Given the description of an element on the screen output the (x, y) to click on. 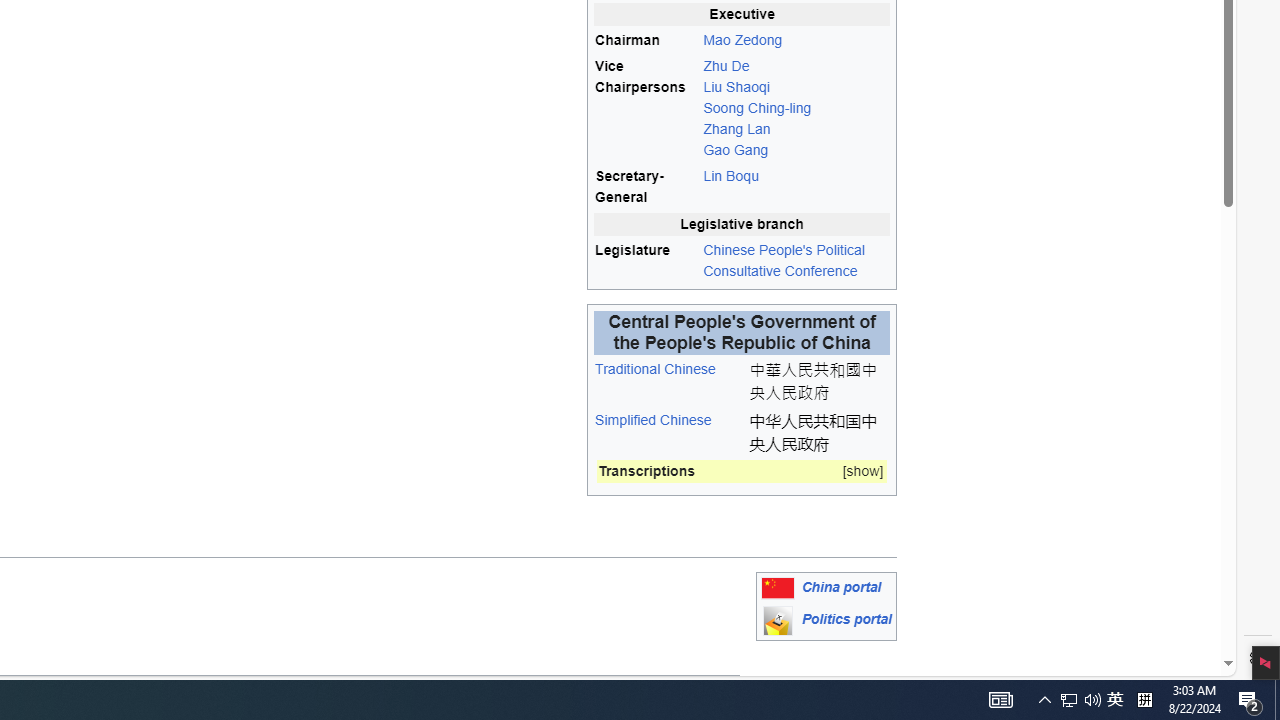
Vice Chairpersons (646, 108)
Chinese People's Political Consultative Conference (795, 260)
Liu Shaoqi (736, 86)
Lin Boqu (730, 176)
Legislative branch (741, 223)
Zhu De Liu Shaoqi Soong Ching-ling Zhang Lan Gao Gang (795, 108)
Legislature (646, 260)
Chinese People's Political Consultative Conference (783, 260)
icon (777, 619)
